Given the description of an element on the screen output the (x, y) to click on. 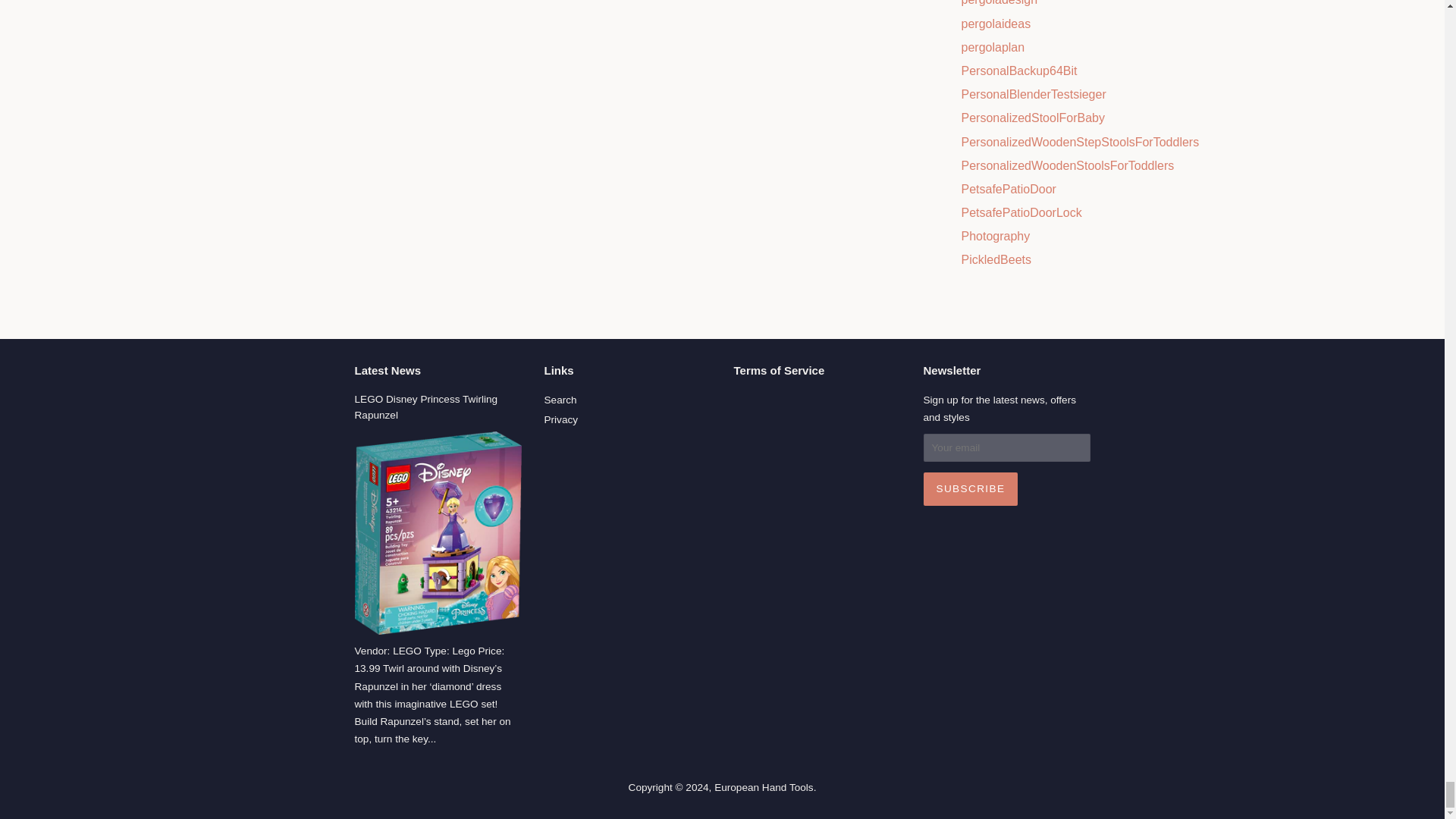
Subscribe (970, 489)
